Given the description of an element on the screen output the (x, y) to click on. 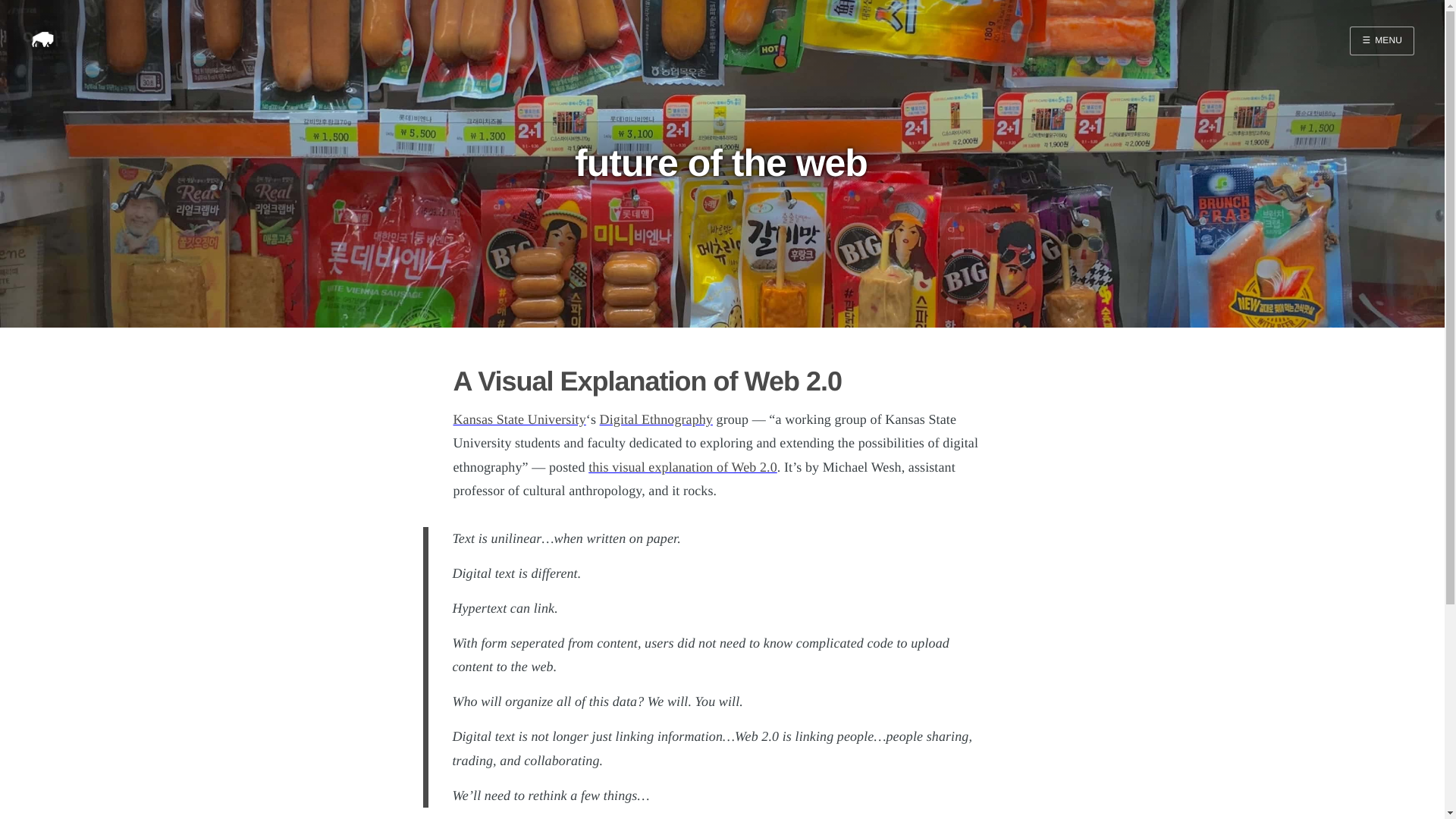
Kansas State University (519, 418)
A Visual Explanation of Web 2.0 (646, 380)
Kansas State University (519, 418)
Digital Ethnography (656, 418)
Digital Ethnography (656, 418)
this visual explanation of Web 2.0 (682, 467)
